Given the description of an element on the screen output the (x, y) to click on. 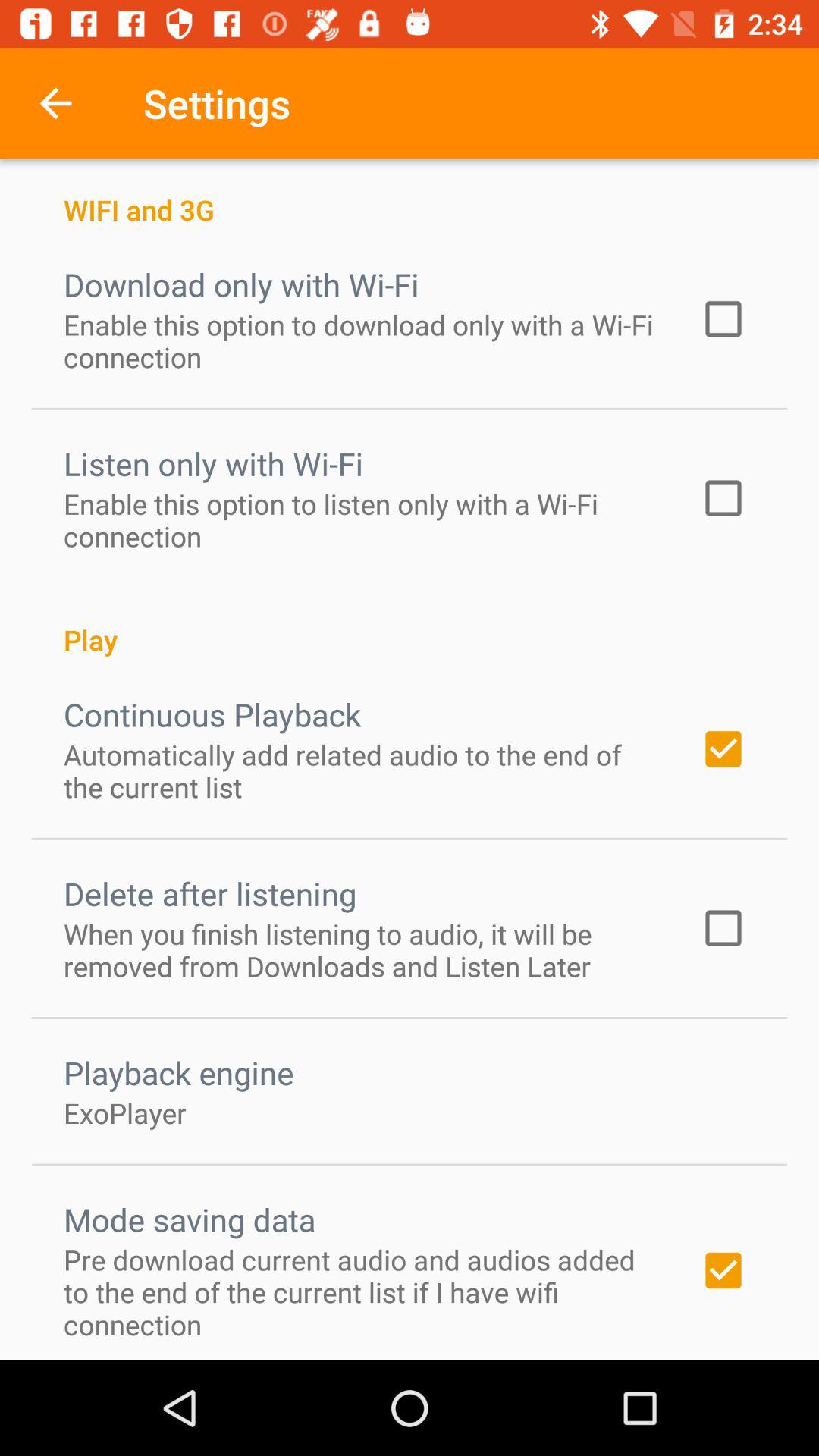
jump to mode saving data item (189, 1219)
